Given the description of an element on the screen output the (x, y) to click on. 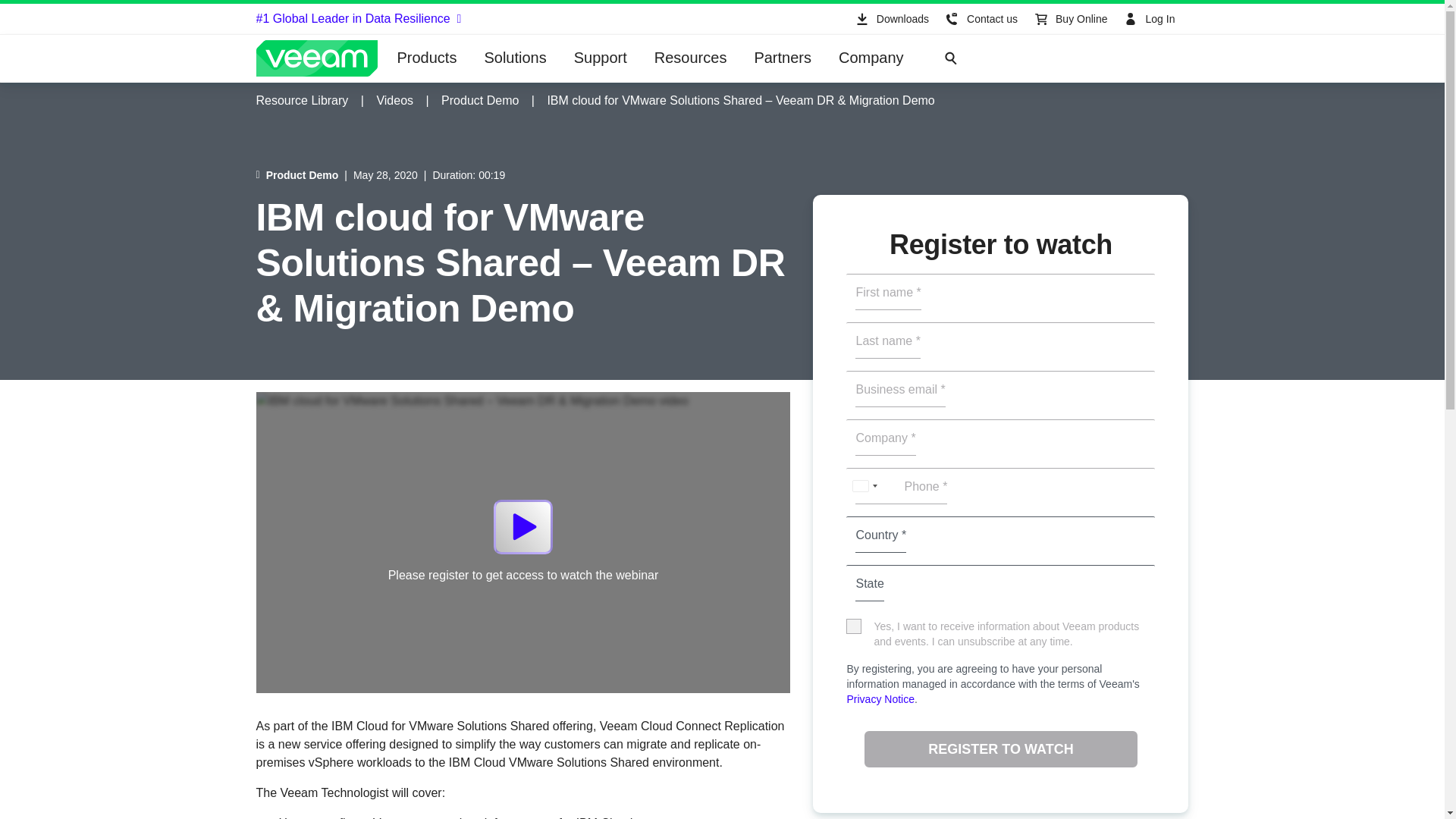
Downloads (890, 19)
Log In (1151, 19)
Contact us (980, 19)
Buy Online (1070, 19)
Products (427, 58)
